Given the description of an element on the screen output the (x, y) to click on. 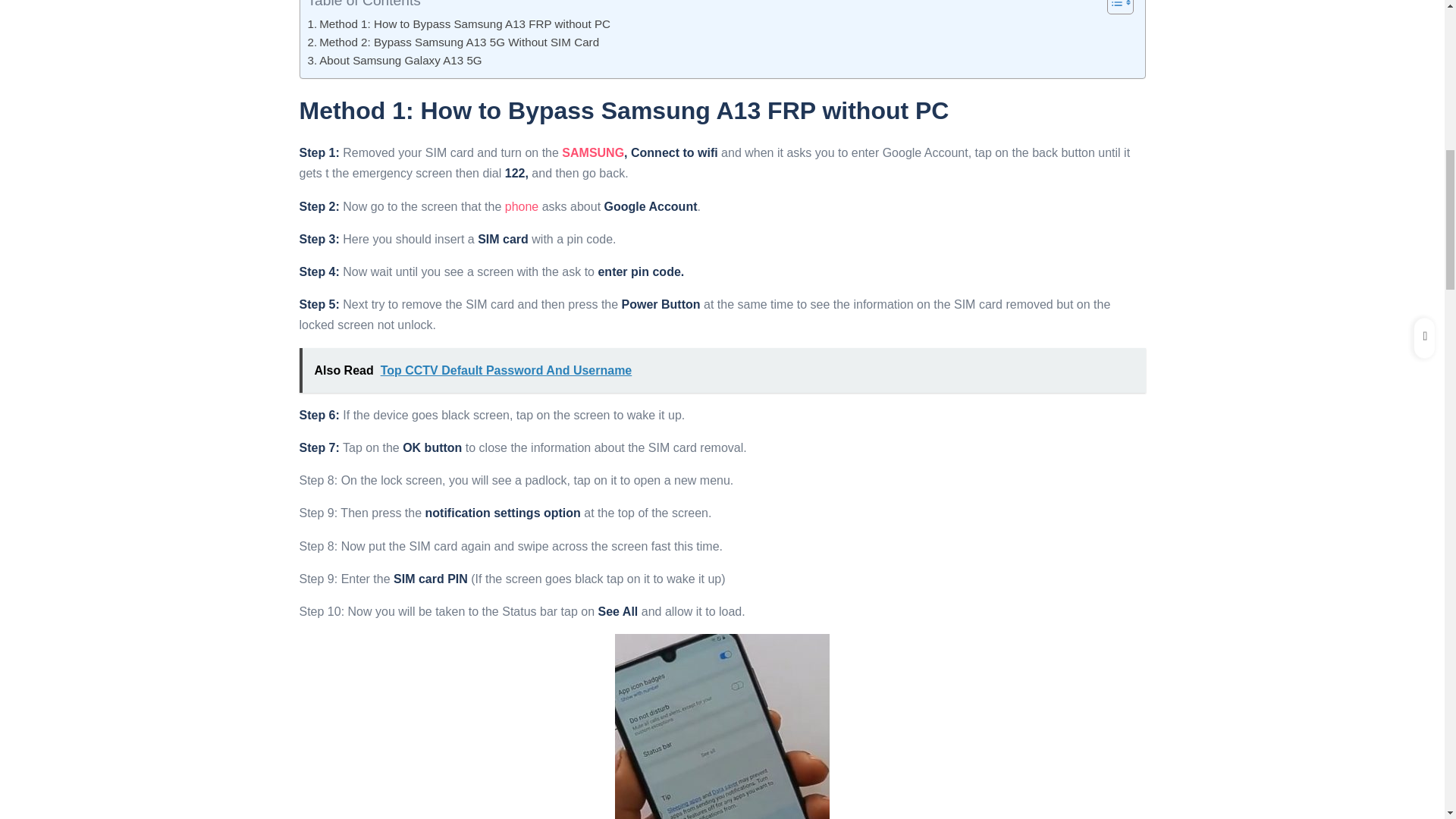
About Samsung Galaxy A13 5G (394, 60)
Method 2: Bypass Samsung A13 5G Without SIM Card (453, 42)
Method 1: How to Bypass Samsung A13 FRP without PC (459, 24)
